Given the description of an element on the screen output the (x, y) to click on. 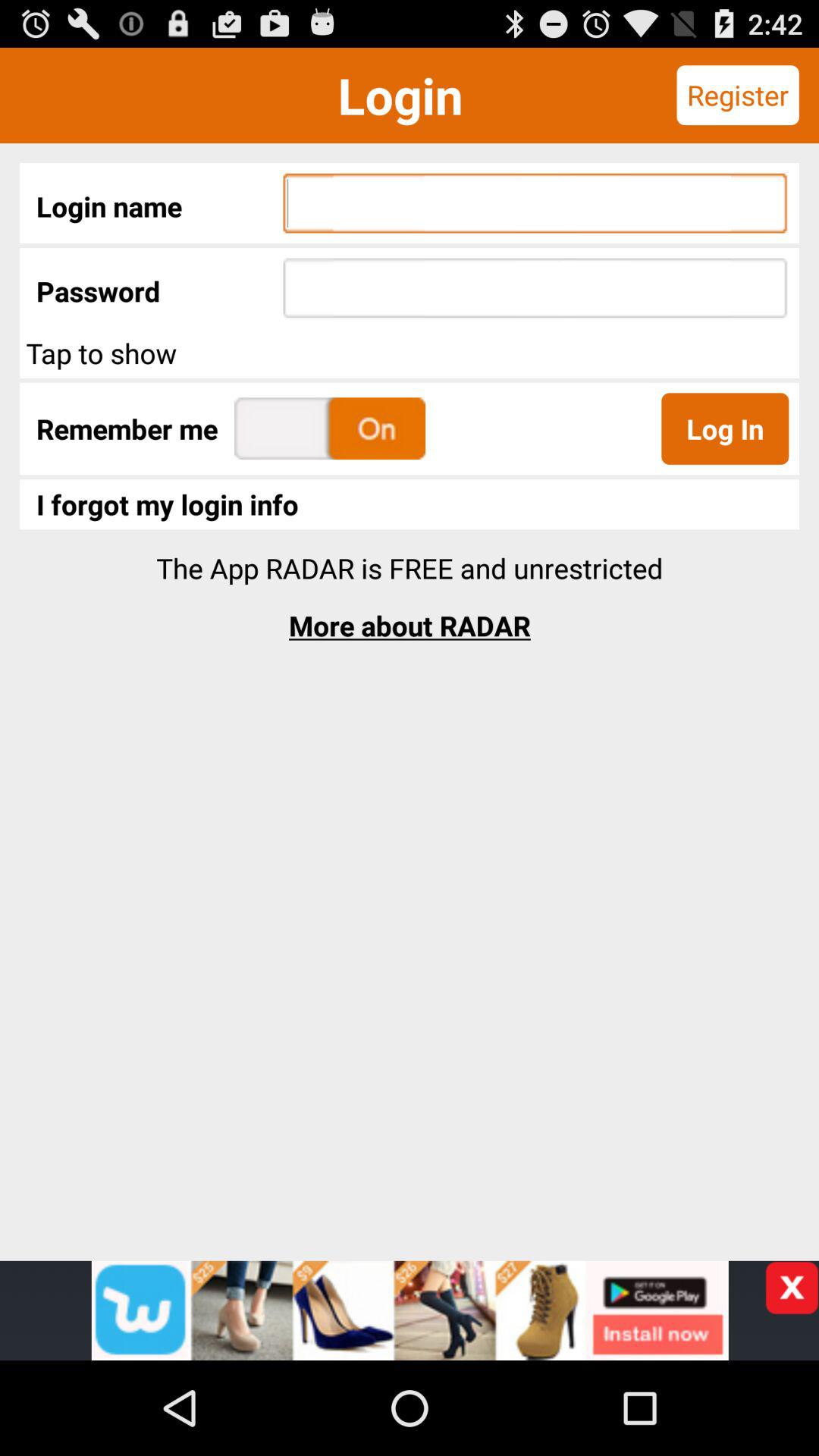
enter username (535, 203)
